Given the description of an element on the screen output the (x, y) to click on. 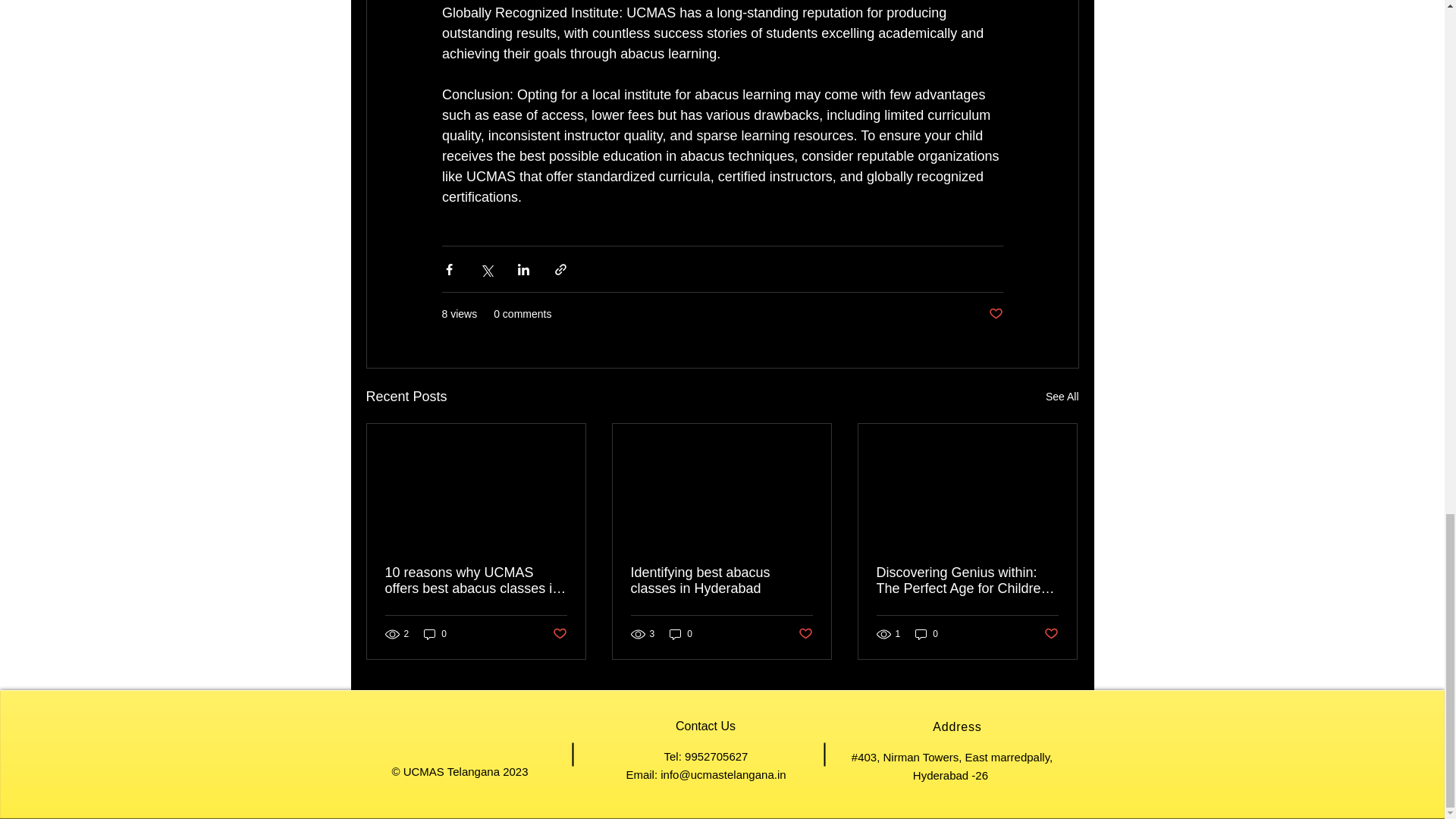
Post not marked as liked (1050, 634)
0 (681, 633)
Post not marked as liked (558, 634)
See All (1061, 396)
10 reasons why UCMAS offers best abacus classes in Hyderabad (476, 581)
0 (435, 633)
Identifying best abacus classes in Hyderabad (721, 581)
0 (926, 633)
Post not marked as liked (804, 634)
Post not marked as liked (995, 314)
